Given the description of an element on the screen output the (x, y) to click on. 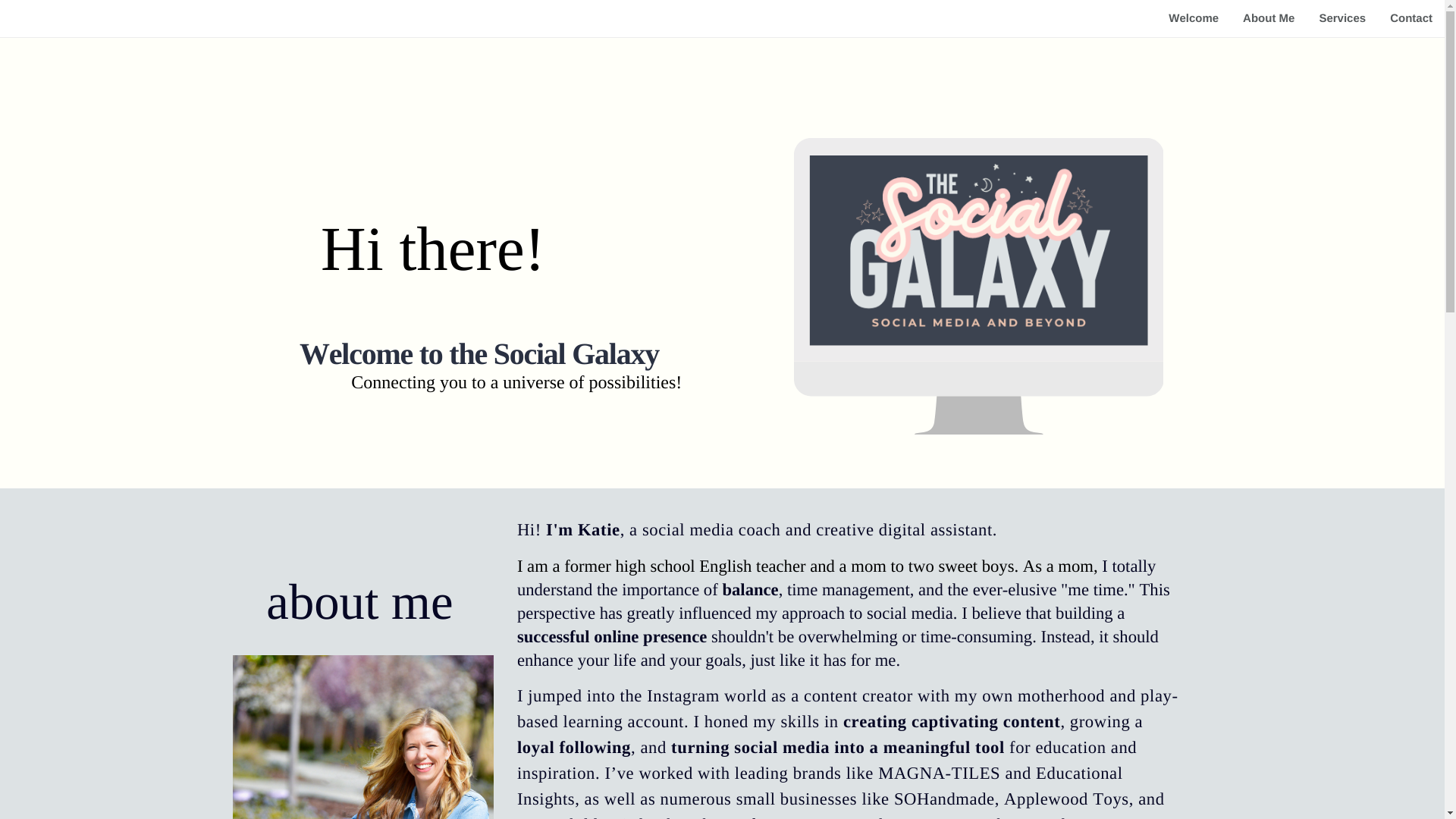
Services (1341, 18)
Services (1341, 18)
About Me (1268, 18)
Welcome (1193, 18)
Welcome (1193, 18)
About Me (1268, 18)
